Given the description of an element on the screen output the (x, y) to click on. 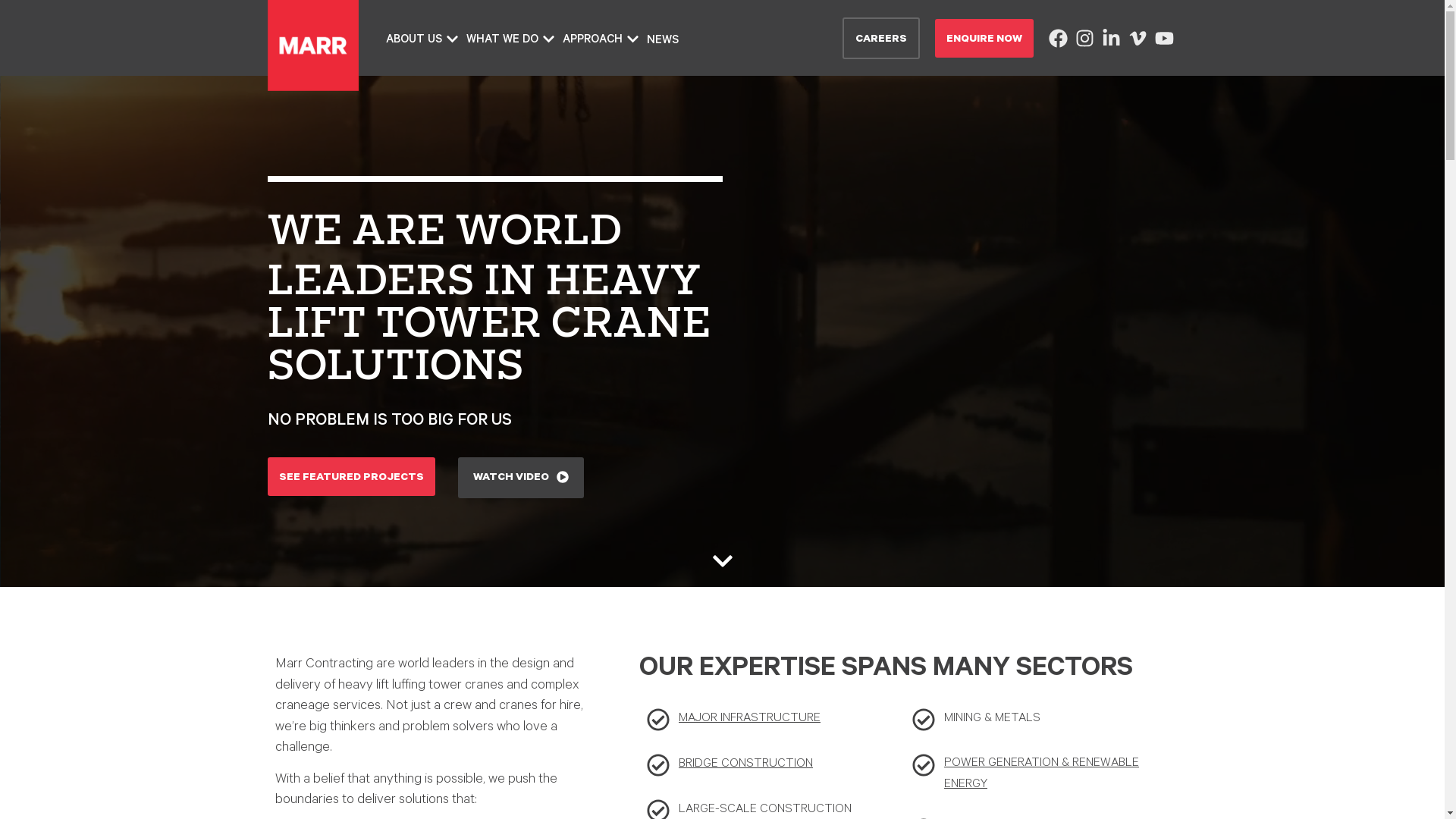
APPROACH Element type: text (600, 42)
ABOUT US Element type: text (421, 42)
NEWS Element type: text (662, 41)
CAREERS Element type: text (880, 37)
WHAT WE DO Element type: text (510, 42)
WATCH VIDEO Element type: text (520, 477)
MAJOR INFRASTRUCTURE Element type: text (733, 719)
SEE FEATURED PROJECTS Element type: text (350, 476)
POWER GENERATION & RENEWABLE ENERGY Element type: text (1036, 774)
ENQUIRE NOW Element type: text (984, 37)
BRIDGE CONSTRUCTION Element type: text (729, 764)
